Given the description of an element on the screen output the (x, y) to click on. 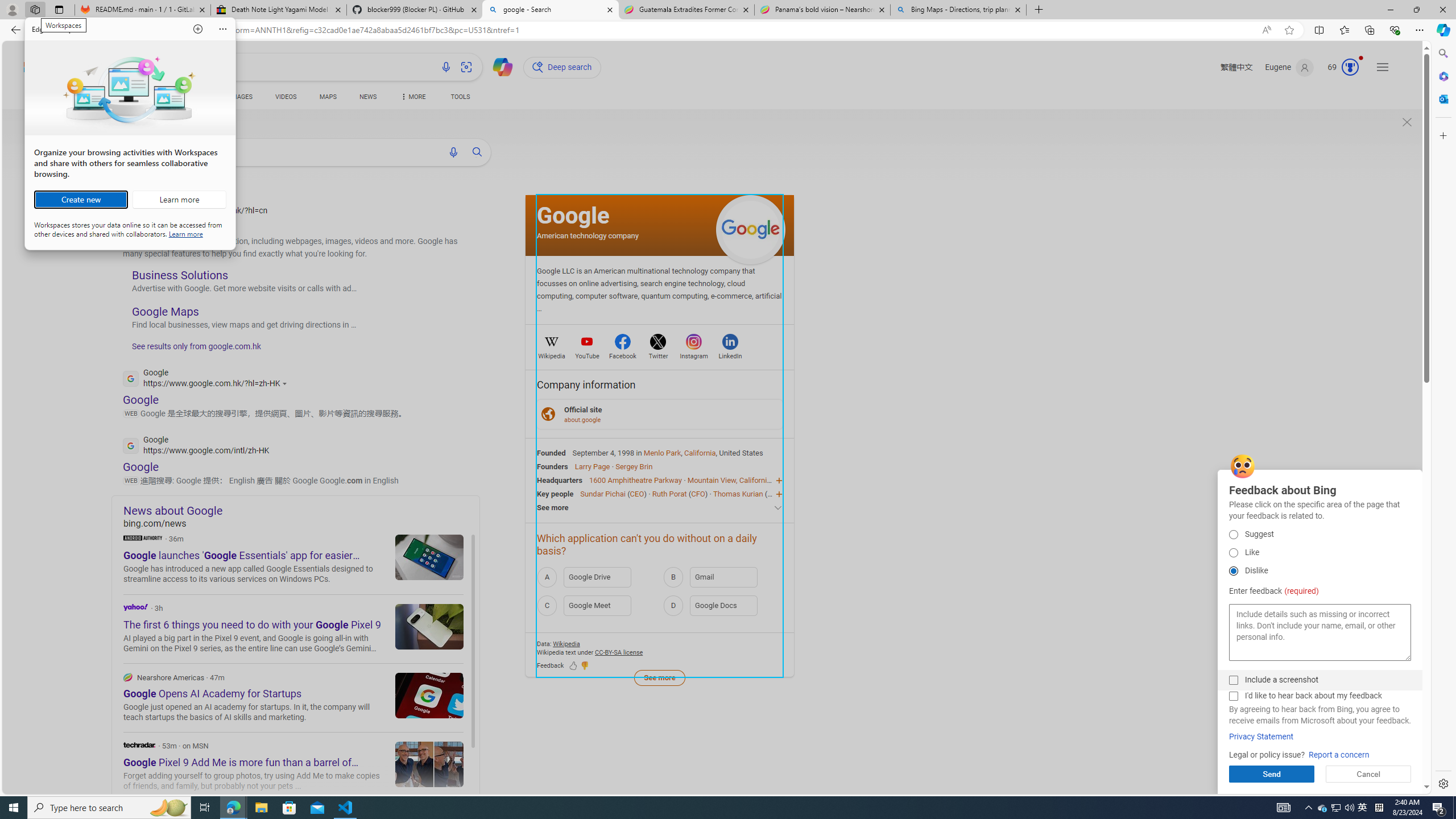
Report a concern (1362, 807)
